Given the description of an element on the screen output the (x, y) to click on. 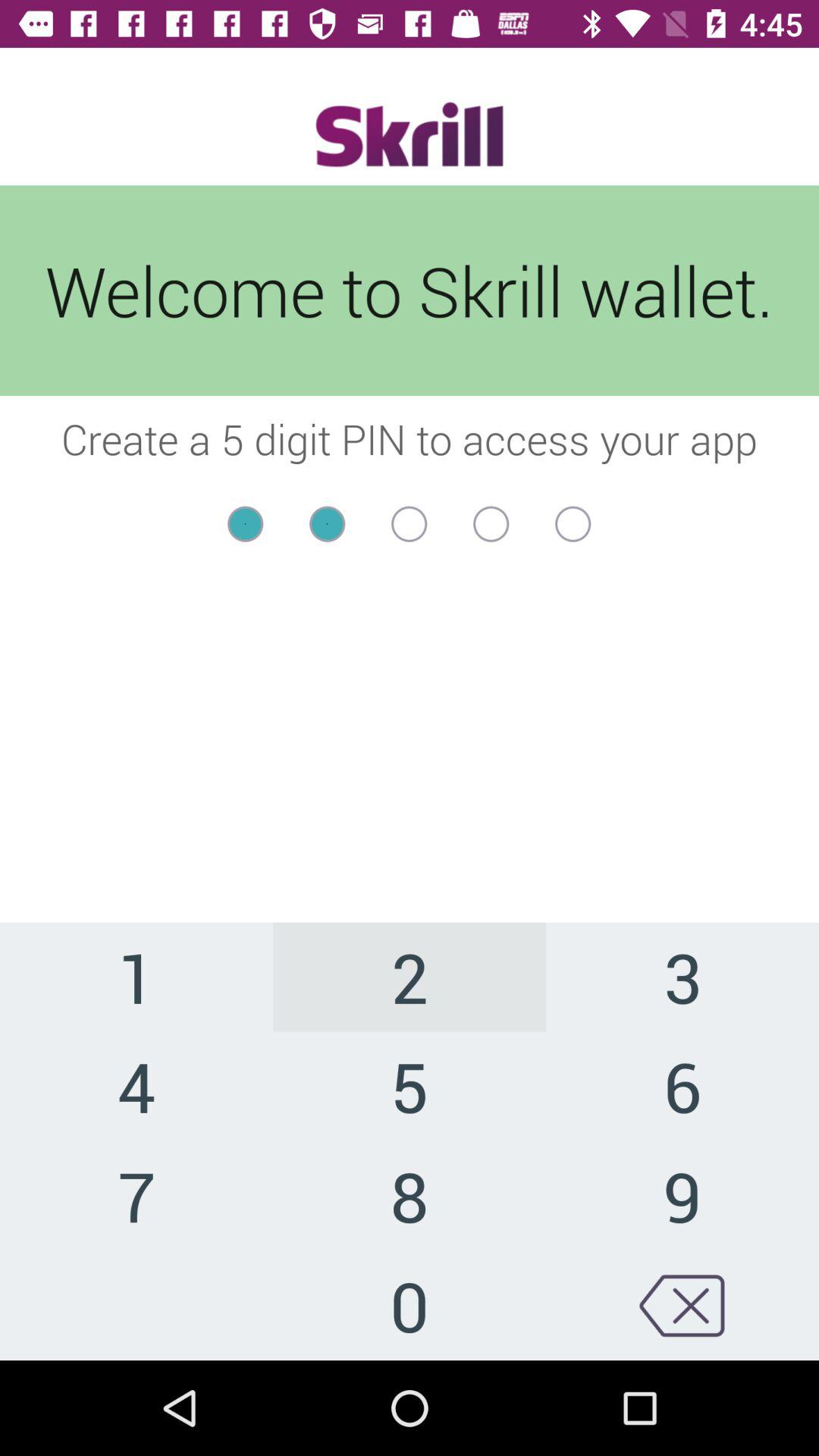
typed pin field (409, 524)
